Given the description of an element on the screen output the (x, y) to click on. 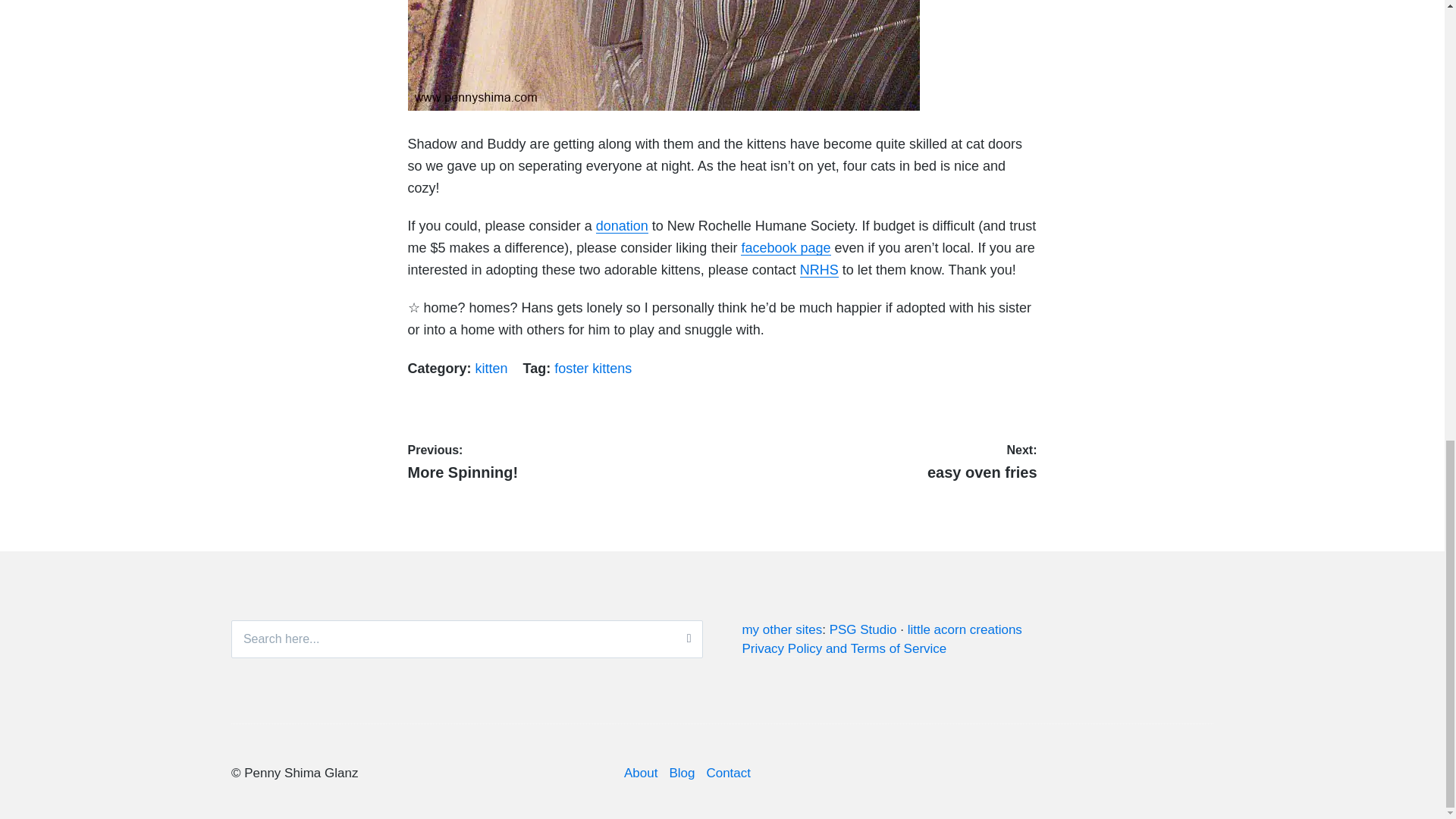
Blog (681, 772)
PSG Studio (862, 630)
little acorn creations (964, 630)
kitten (492, 368)
my other sites (561, 460)
Privacy Policy and Terms of Service (781, 630)
donation (843, 648)
About (621, 225)
Contact (882, 460)
foster kittens (641, 772)
facebook page (728, 772)
NRHS (592, 368)
